Given the description of an element on the screen output the (x, y) to click on. 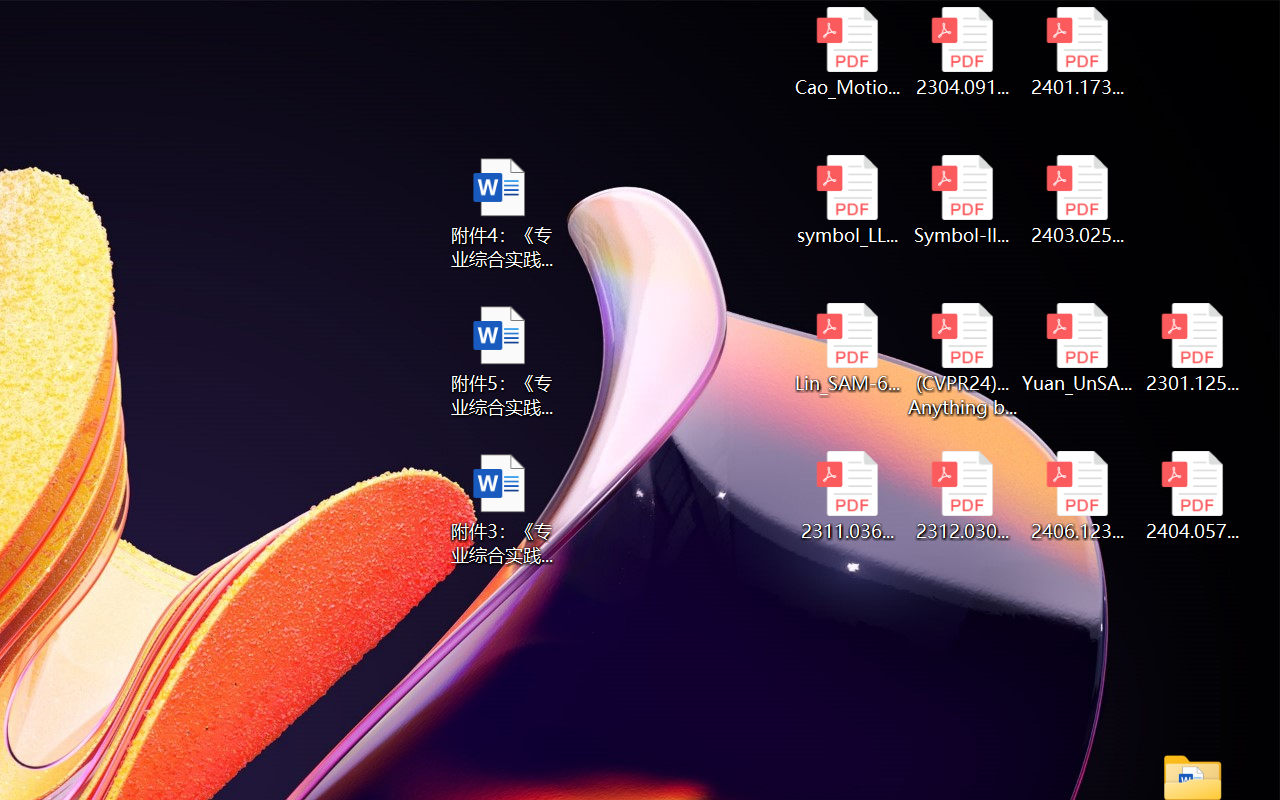
2406.12373v2.pdf (1077, 496)
2404.05719v1.pdf (1192, 496)
2304.09121v3.pdf (962, 52)
2311.03658v2.pdf (846, 496)
2301.12597v3.pdf (1192, 348)
symbol_LLM.pdf (846, 200)
2403.02502v1.pdf (1077, 200)
2401.17399v1.pdf (1077, 52)
2312.03032v2.pdf (962, 496)
Symbol-llm-v2.pdf (962, 200)
